Given the description of an element on the screen output the (x, y) to click on. 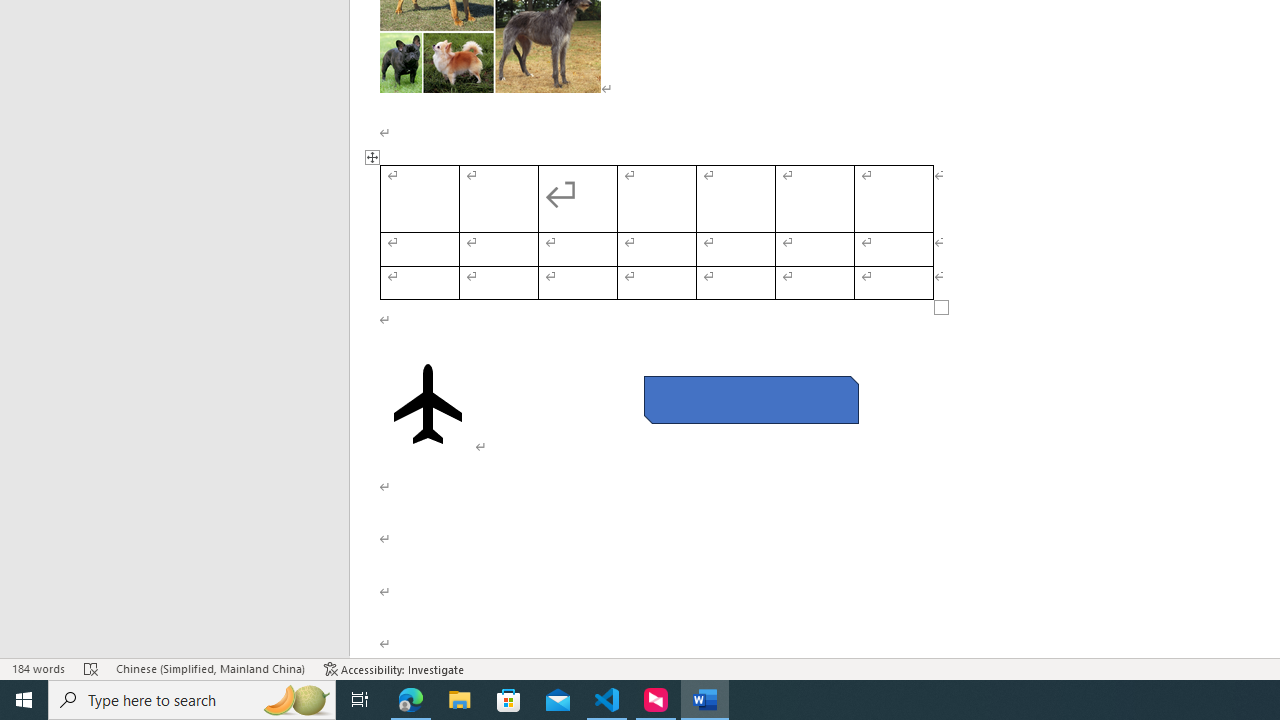
Airplane with solid fill (428, 403)
File Explorer (460, 699)
Microsoft Edge - 1 running window (411, 699)
Rectangle: Diagonal Corners Snipped 2 (750, 399)
